Given the description of an element on the screen output the (x, y) to click on. 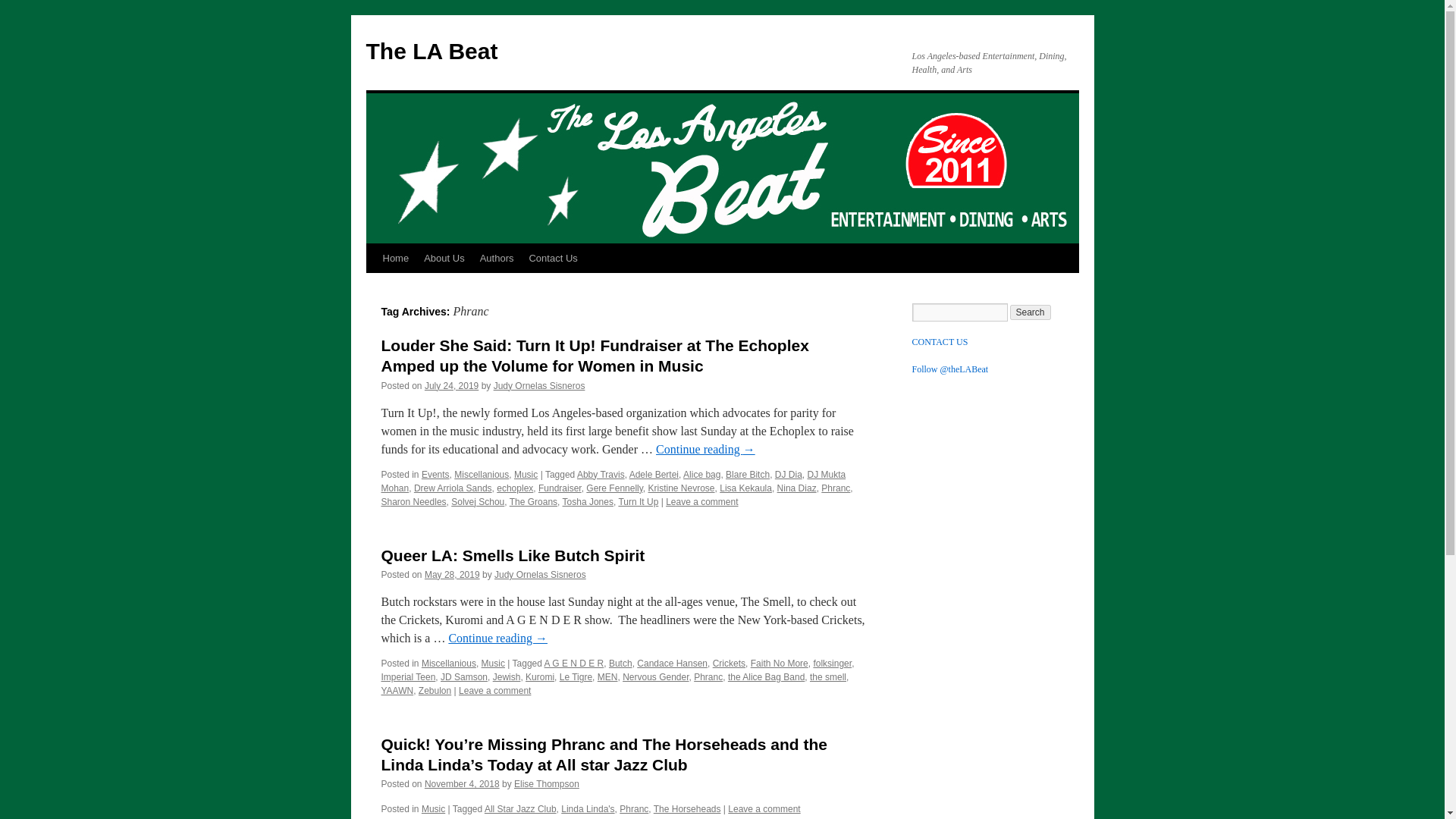
Contact Us (553, 258)
Turn It Up (637, 501)
Judy Ornelas Sisneros (539, 385)
Blare Bitch (747, 474)
Lisa Kekaula (745, 488)
DJ Dia (788, 474)
The LA Beat (431, 50)
Miscellanious (449, 663)
July 24, 2019 (452, 385)
1:53 pm (462, 783)
